Given the description of an element on the screen output the (x, y) to click on. 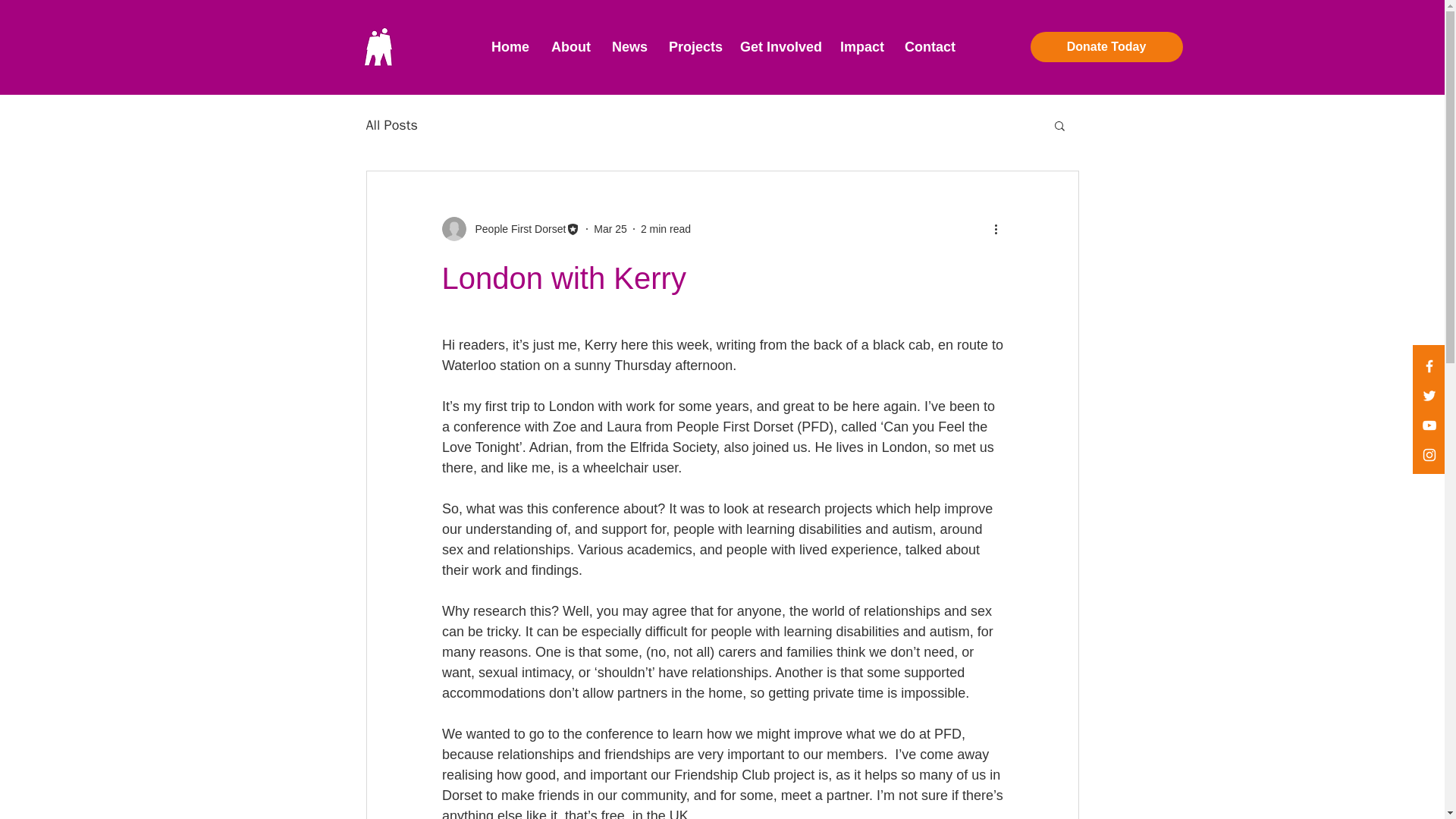
Impact (860, 47)
News (628, 47)
All Posts (390, 125)
Projects (693, 47)
2 min read (665, 228)
Get Involved (778, 47)
Mar 25 (610, 228)
About (569, 47)
Contact (928, 47)
People First Dorset (515, 229)
Donate Today (1105, 46)
Home (510, 47)
People First Dorset (510, 228)
